Given the description of an element on the screen output the (x, y) to click on. 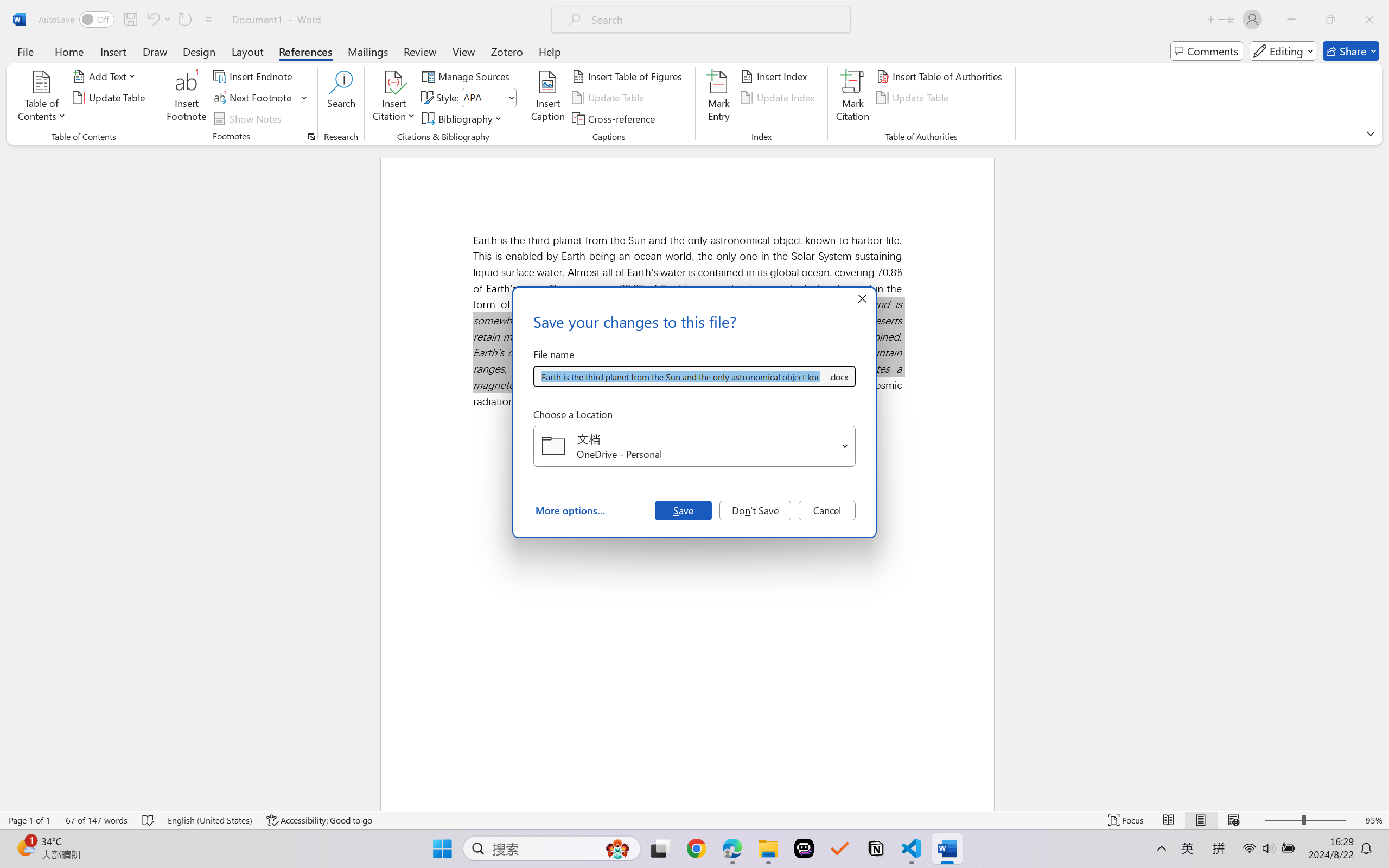
Insert Endnote (253, 75)
Save as type (837, 376)
Table of Contents (42, 97)
Manage Sources... (467, 75)
Search (341, 97)
